Given the description of an element on the screen output the (x, y) to click on. 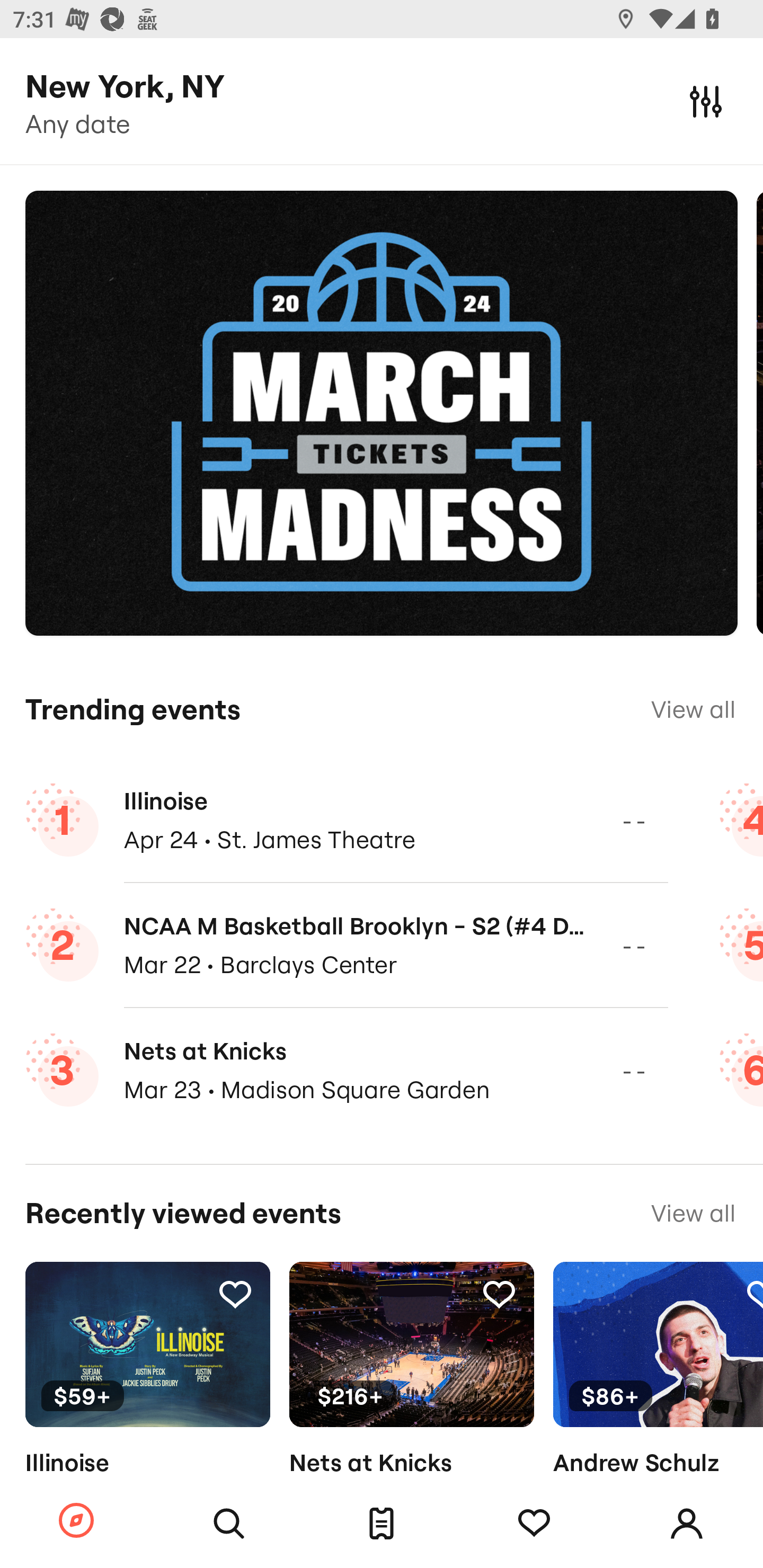
Filters (705, 100)
View all (693, 709)
View all (693, 1213)
Tracking $59+ Illinoise Wed, Apr 24, 8 PM (147, 1399)
Tracking $216+ Nets at Knicks Sat, Mar 23, 1 PM (411, 1399)
Tracking $86+ Andrew Schulz Sat, May 4, 8 PM (658, 1399)
Tracking (234, 1293)
Tracking (498, 1293)
Tracking (753, 1293)
Browse (76, 1521)
Search (228, 1523)
Tickets (381, 1523)
Tracking (533, 1523)
Account (686, 1523)
